Given the description of an element on the screen output the (x, y) to click on. 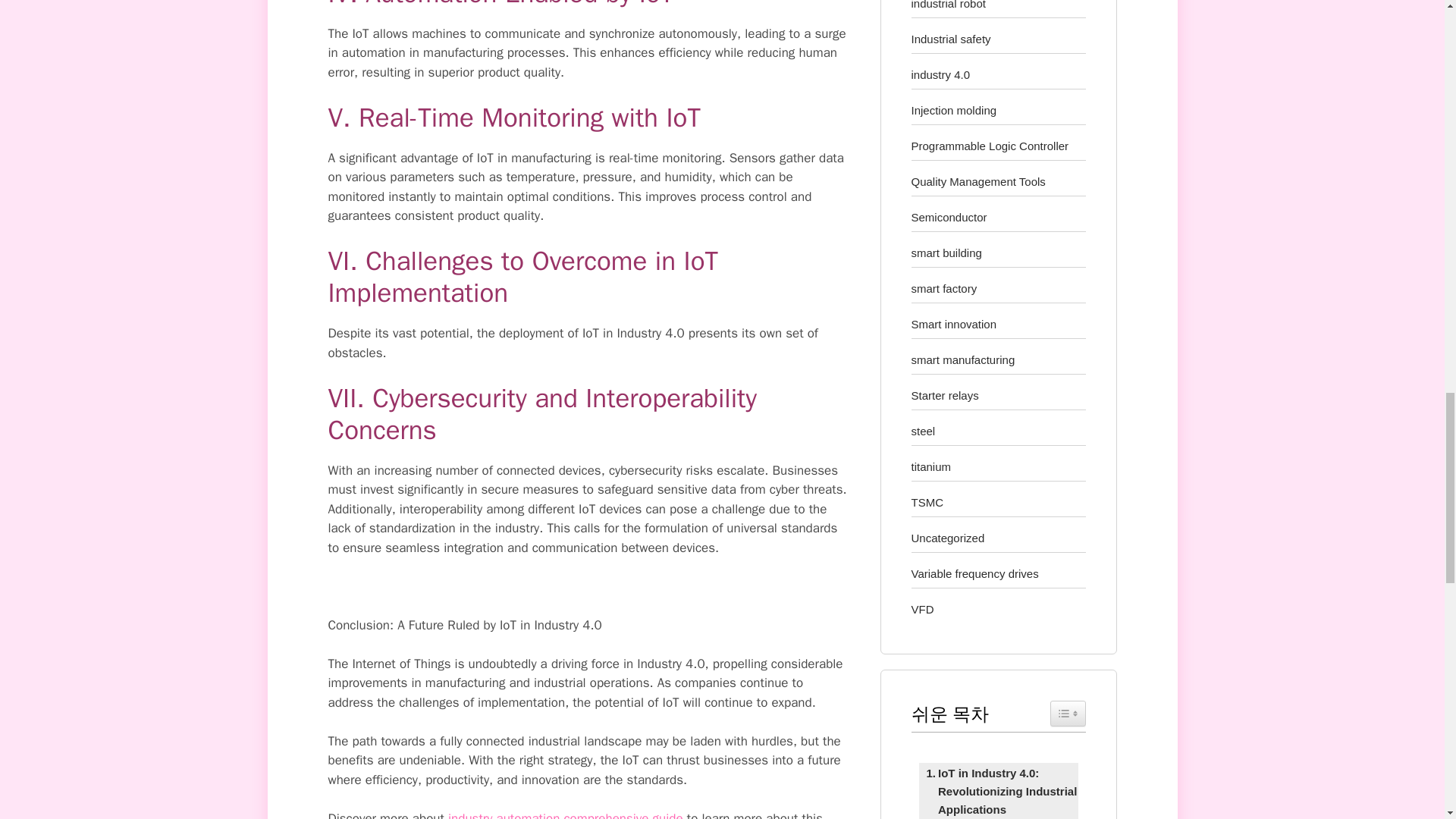
industry automation comprehensive guide (565, 814)
IoT in Industry 4.0: Revolutionizing Industrial Applications (998, 791)
